Given the description of an element on the screen output the (x, y) to click on. 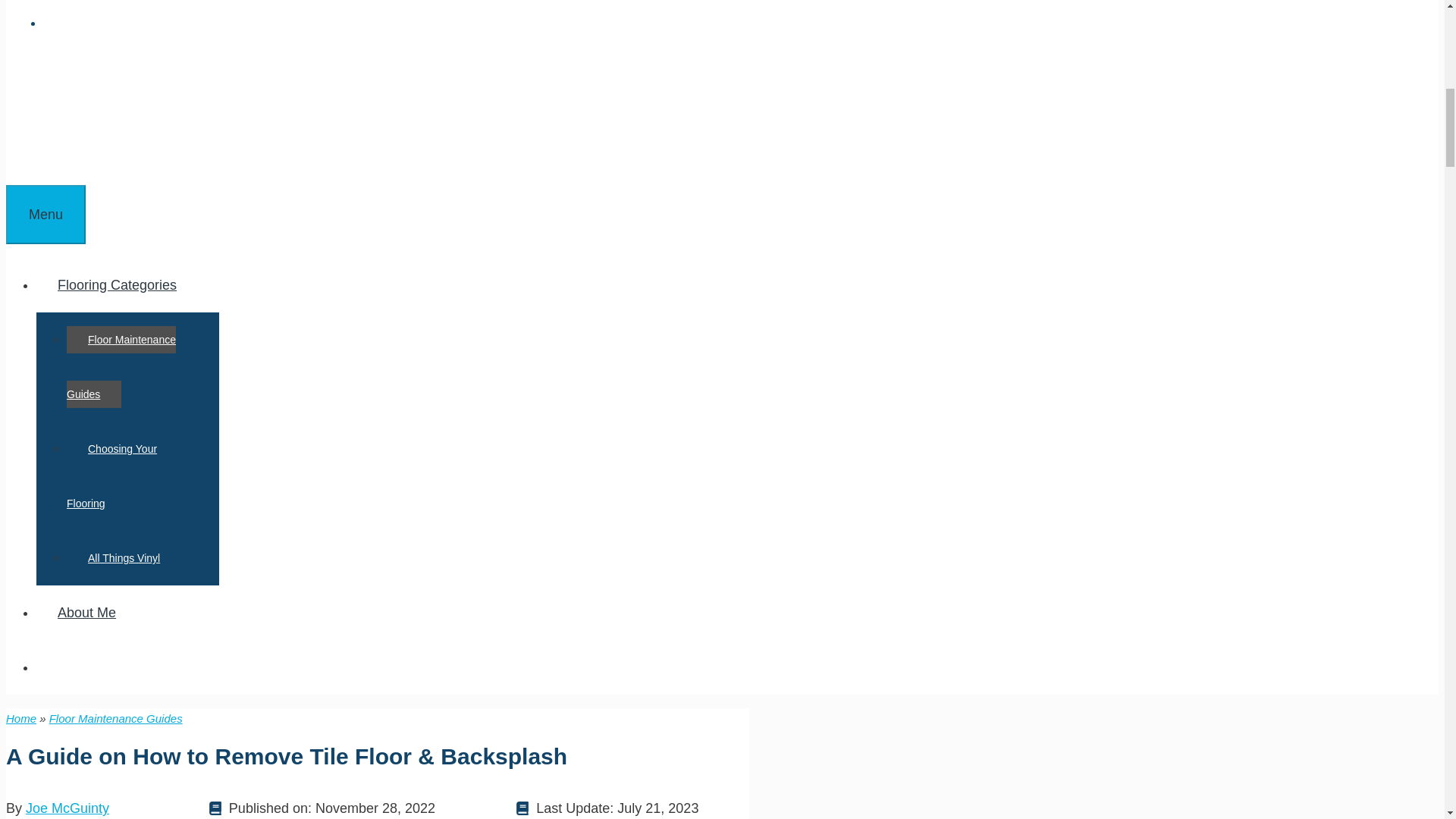
Floor Maintenance Guides (121, 366)
Home (20, 717)
Floor Techie (68, 118)
Choosing Your Flooring (111, 475)
Flooring Categories (127, 284)
Menu (45, 214)
Floor Maintenance Guides (116, 717)
Joe McGuinty (67, 807)
All Things Vinyl (123, 557)
About Me (86, 612)
